Given the description of an element on the screen output the (x, y) to click on. 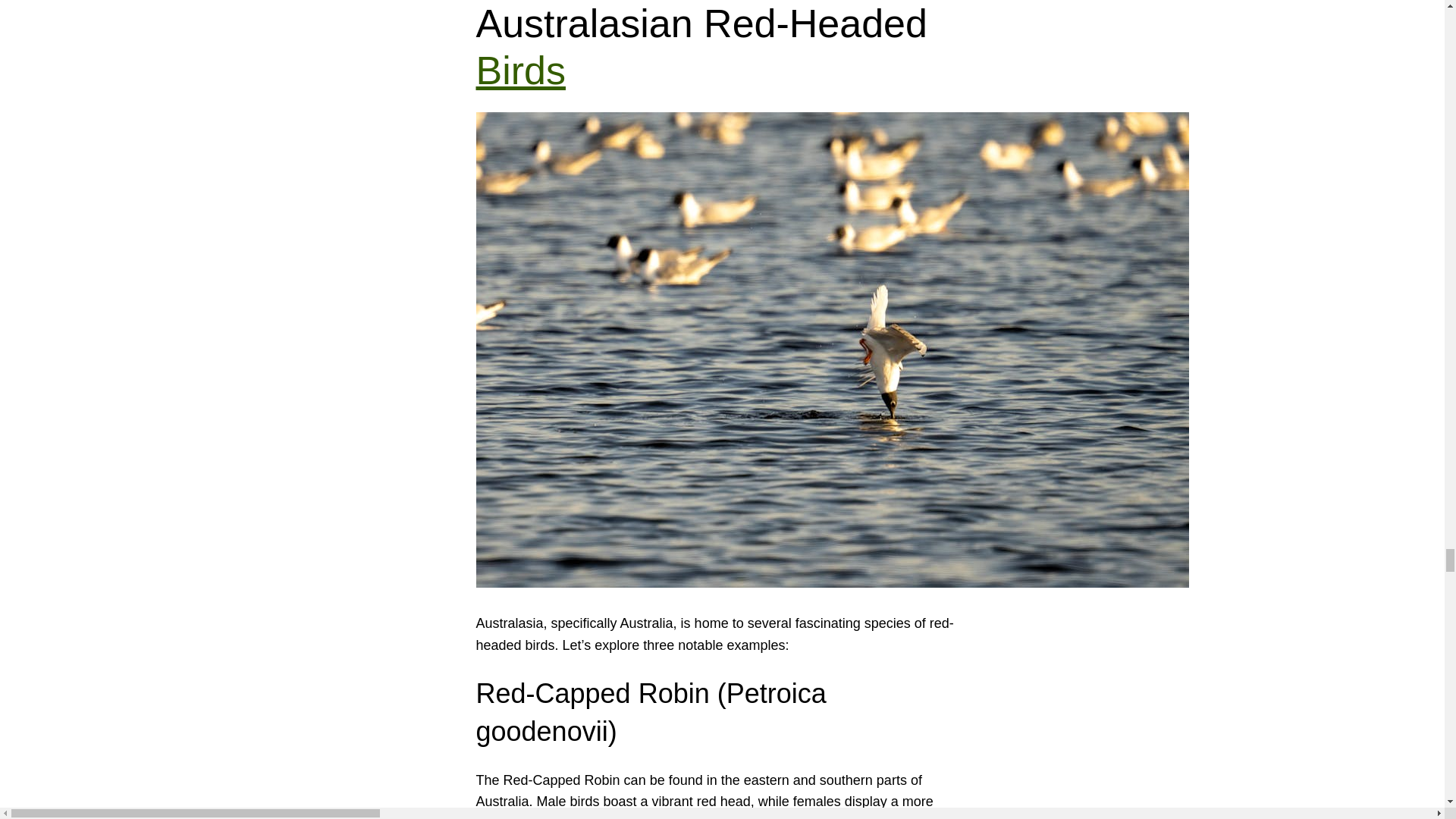
Birds (521, 70)
